Given the description of an element on the screen output the (x, y) to click on. 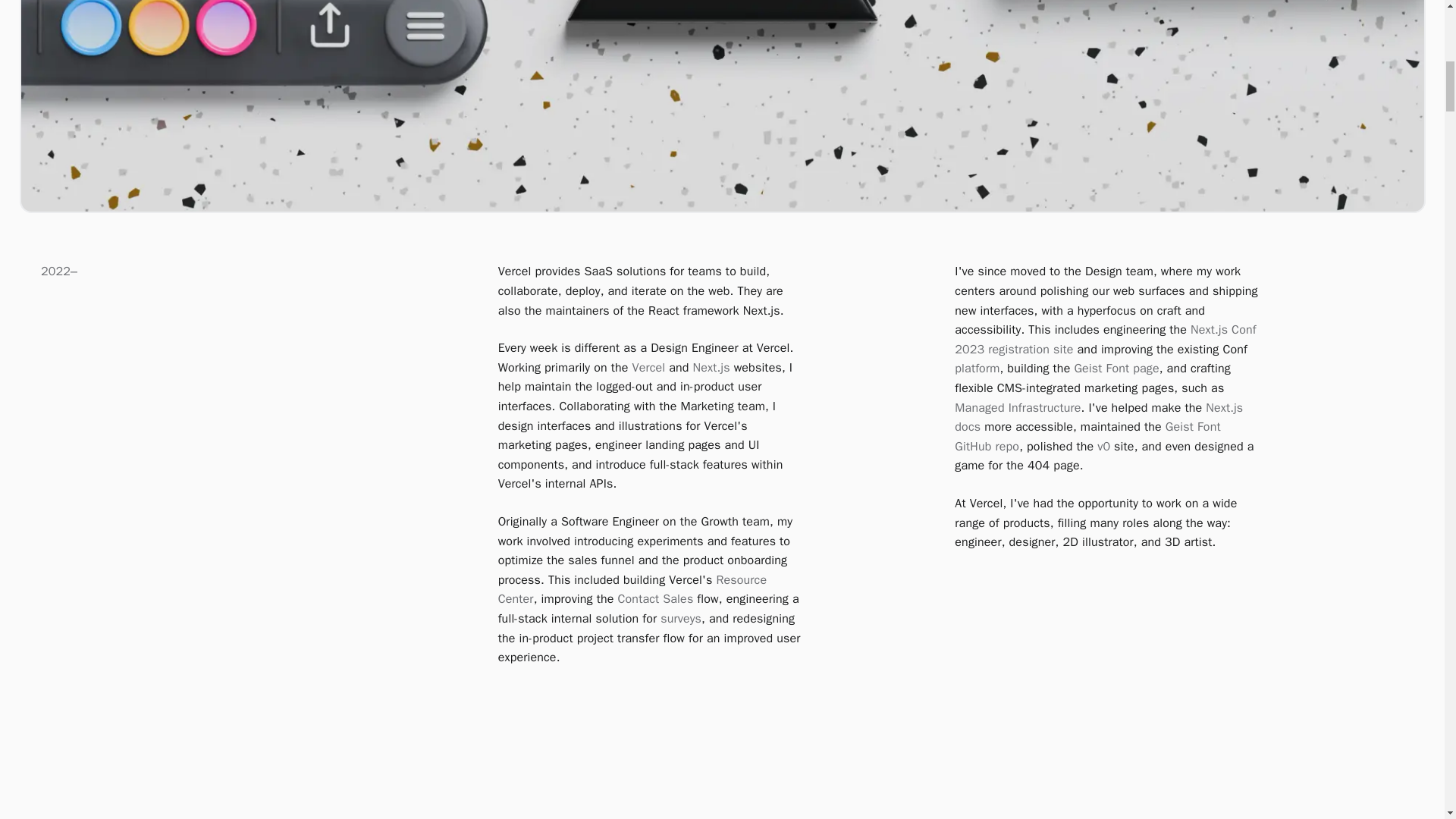
Contact Sales (655, 598)
Next.js docs (1099, 417)
Vercel (648, 367)
surveys (681, 618)
Geist Font GitHub repo (1087, 436)
Next.js (711, 367)
Resource Center (632, 589)
Managed Infrastructure (1017, 407)
Geist Font page (1116, 368)
Next.js Conf 2023 registration site (1105, 339)
